Given the description of an element on the screen output the (x, y) to click on. 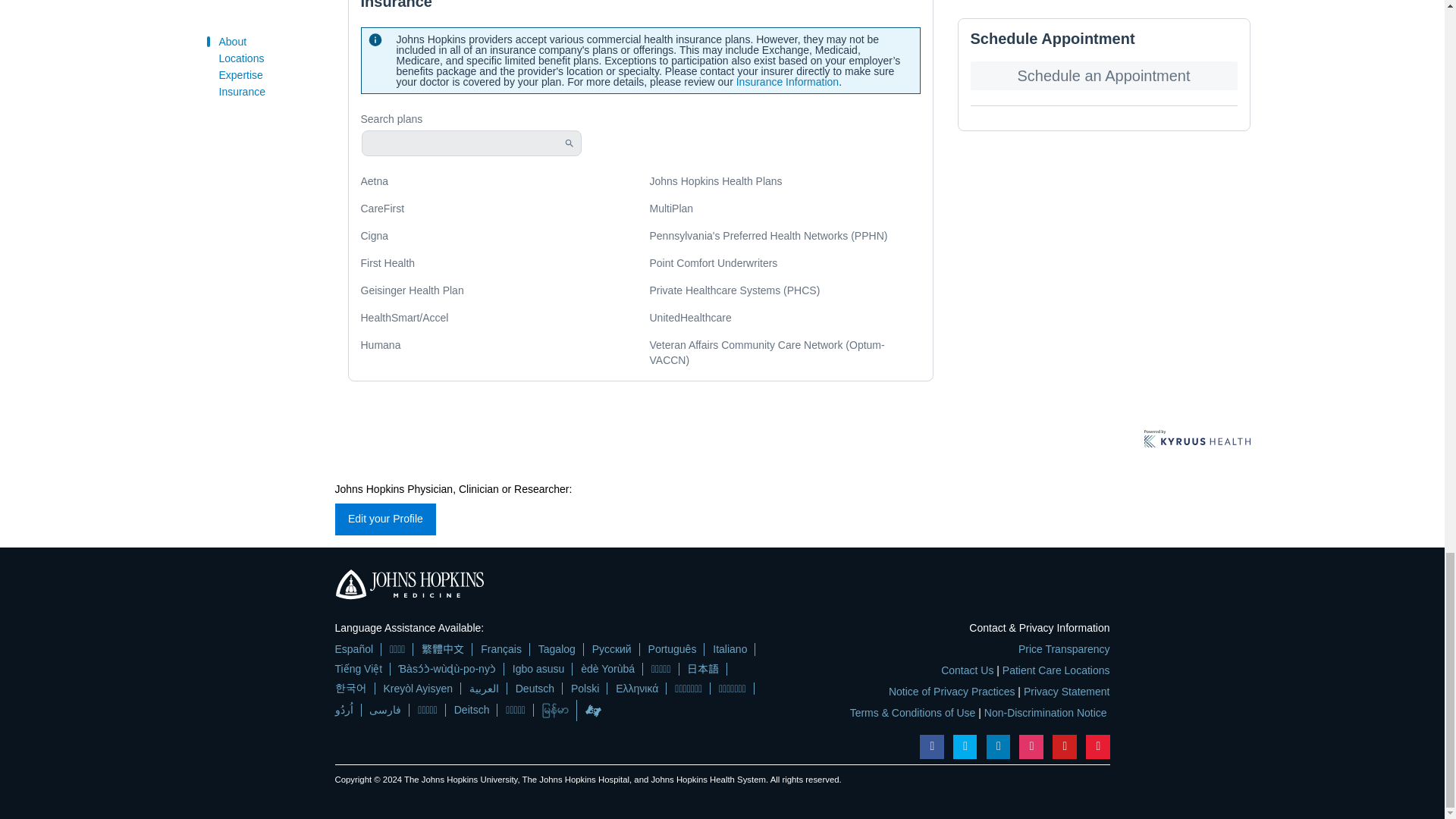
Deutsch (534, 687)
Insurance Information (787, 81)
Italiano (729, 649)
Edit your Profile (385, 519)
Igbo asusu (538, 668)
Tagalog (556, 649)
